Given the description of an element on the screen output the (x, y) to click on. 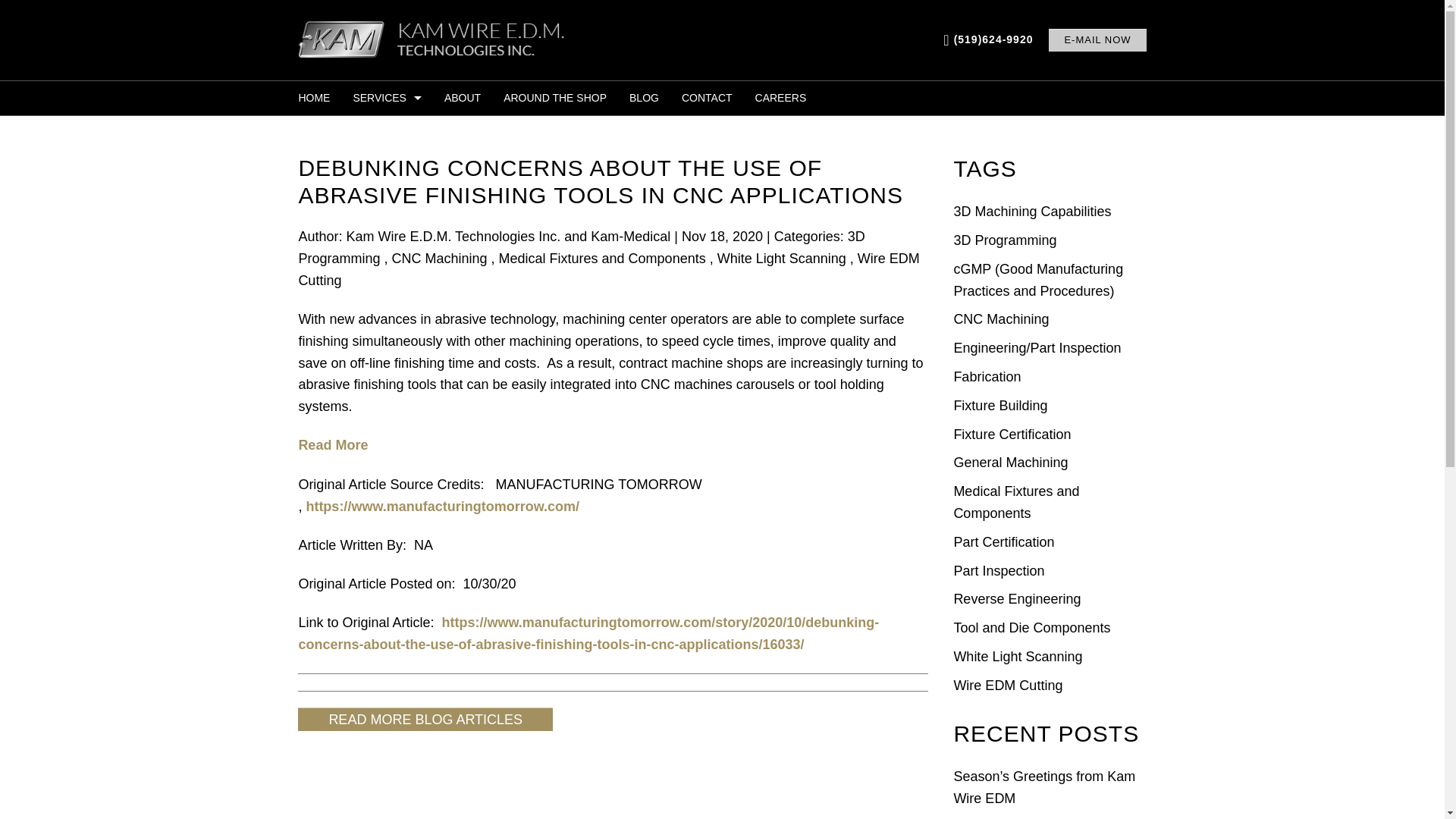
E-MAIL NOW (1096, 39)
3D Machining Capabilities (1031, 211)
AROUND THE SHOP (554, 98)
CNC Machining (438, 258)
HOME (319, 98)
BLOG (643, 98)
White Light Scanning (781, 258)
CAREERS (775, 98)
Medical Fixtures and Components (602, 258)
READ MORE BLOG ARTICLES (425, 719)
CONTACT (706, 98)
ABOUT (462, 98)
Read More (333, 444)
3D Programming (1005, 240)
SERVICES (386, 98)
